Given the description of an element on the screen output the (x, y) to click on. 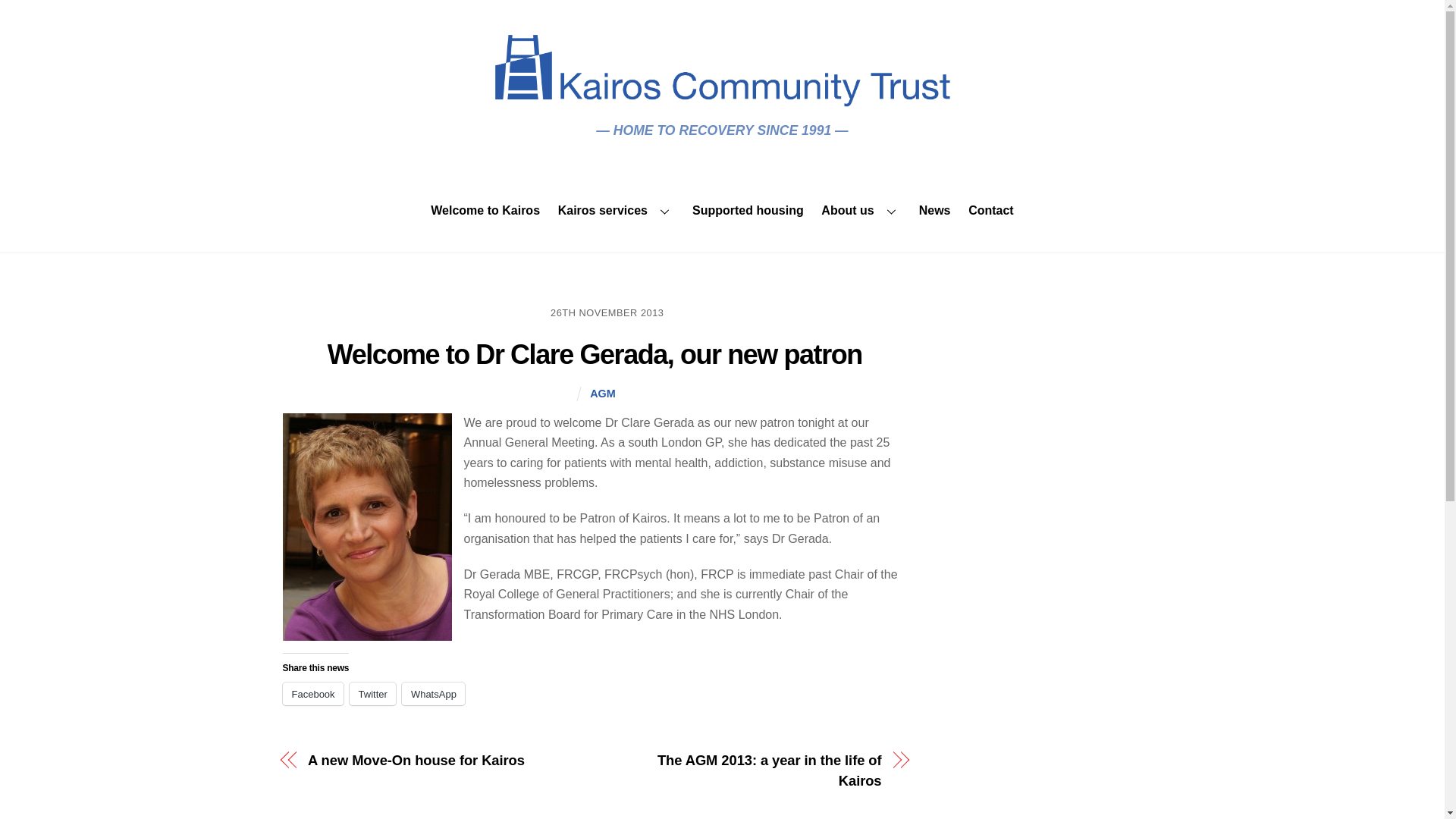
A new Move-On house for Kairos (441, 760)
Kairos ulcc-3 (722, 71)
Facebook (312, 693)
About us (860, 210)
Twitter (372, 693)
Welcome to Kairos (485, 210)
WhatsApp (432, 693)
Kairos Community Trust (722, 99)
Click to share on Facebook (312, 693)
AGM (602, 393)
